Given the description of an element on the screen output the (x, y) to click on. 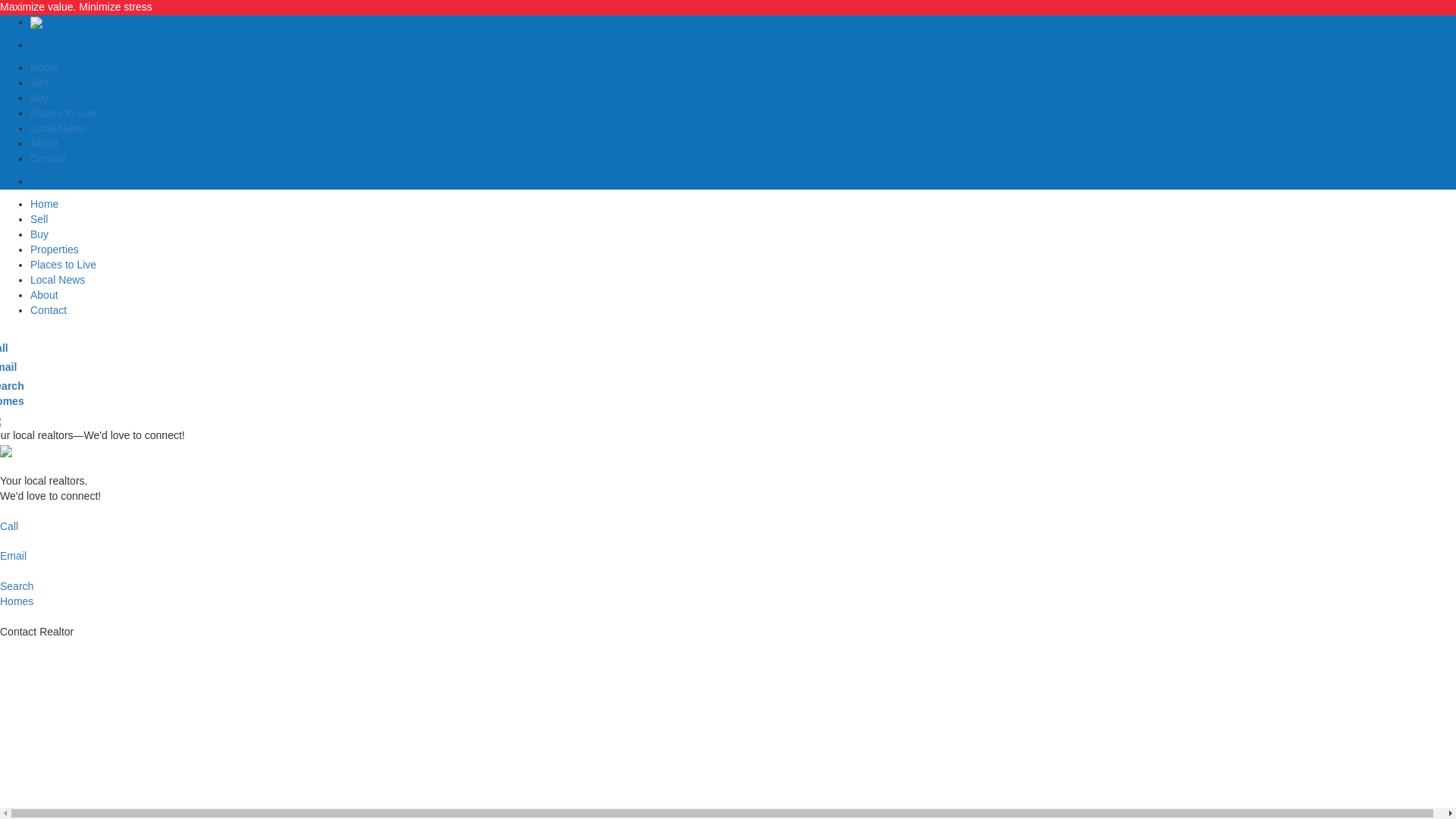
Buy (39, 97)
Buy (39, 234)
Places to Live (63, 264)
Contact (12, 400)
Home (48, 309)
Sell (44, 67)
Local News (39, 82)
Contact (57, 128)
Local News (48, 158)
Places to Live (57, 279)
About (63, 112)
Sell (44, 143)
Call (39, 218)
Email (728, 540)
